Given the description of an element on the screen output the (x, y) to click on. 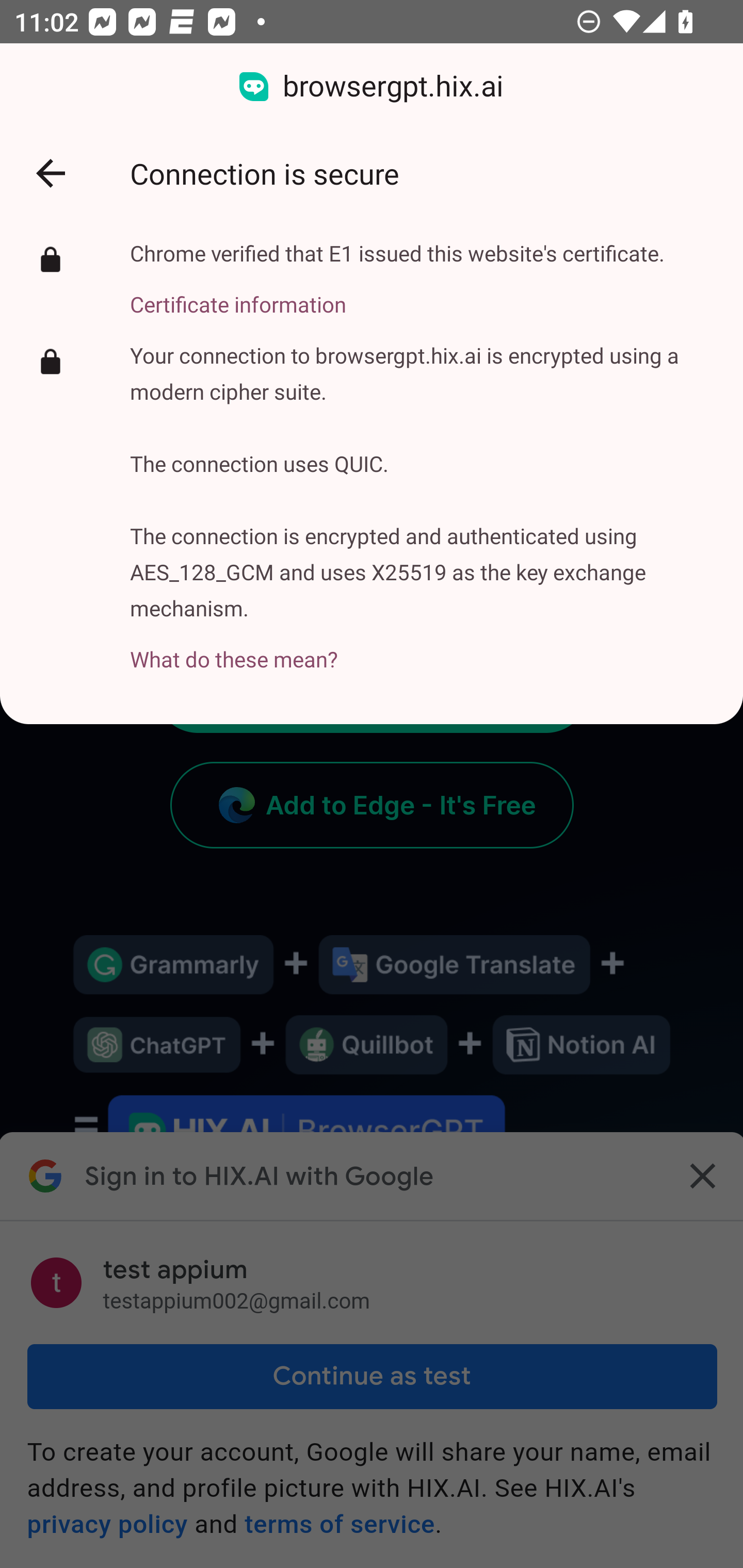
browsergpt.hix.ai (371, 86)
Back (50, 173)
Certificate information (397, 293)
What do these mean? (422, 648)
